Given the description of an element on the screen output the (x, y) to click on. 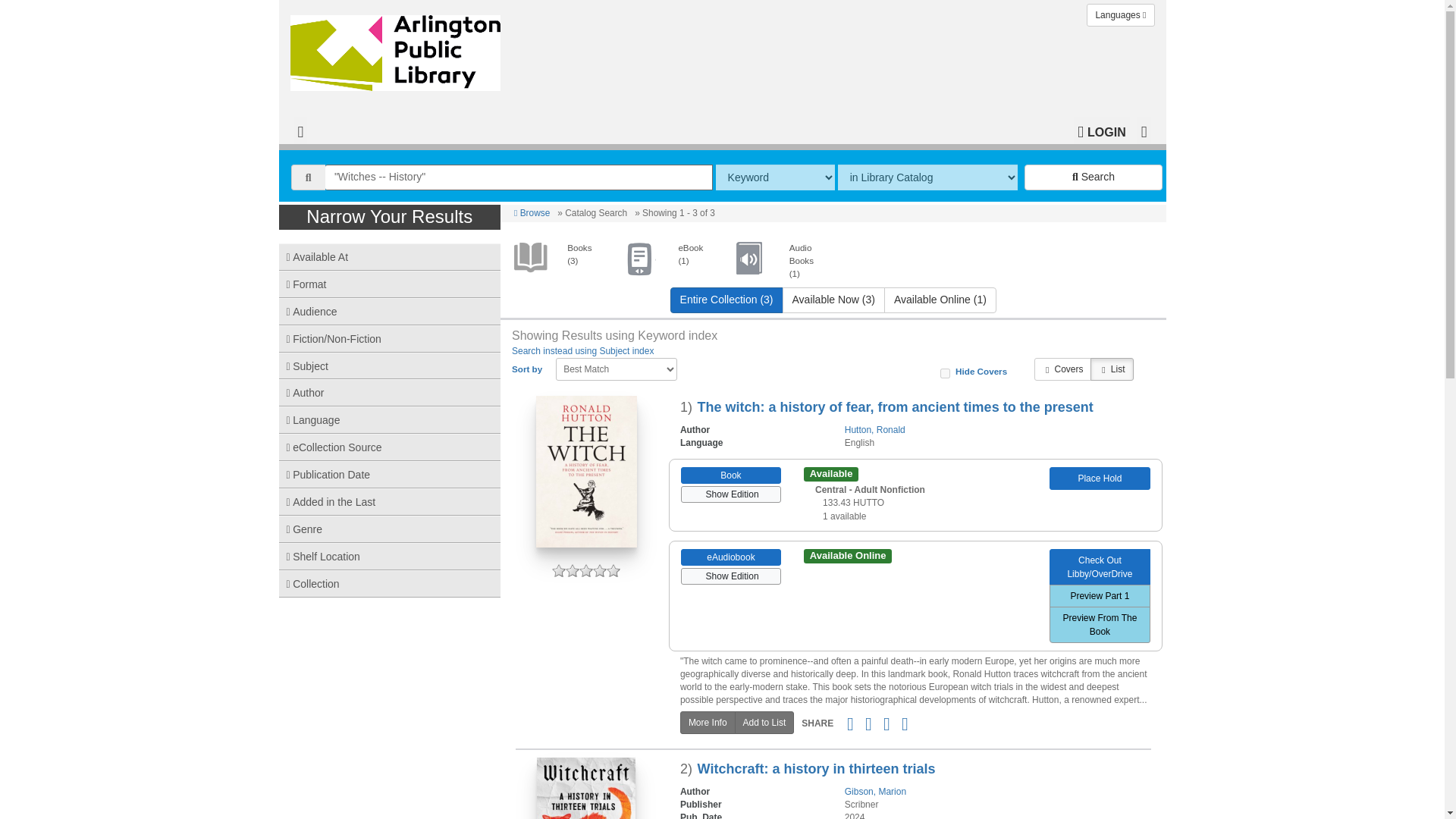
"Witches -- History" (518, 177)
Library Home Page (397, 48)
 Search (1093, 177)
on (945, 373)
The method of searching. (775, 177)
Login (1101, 130)
LOGIN (1101, 130)
Languages  (1120, 15)
